Given the description of an element on the screen output the (x, y) to click on. 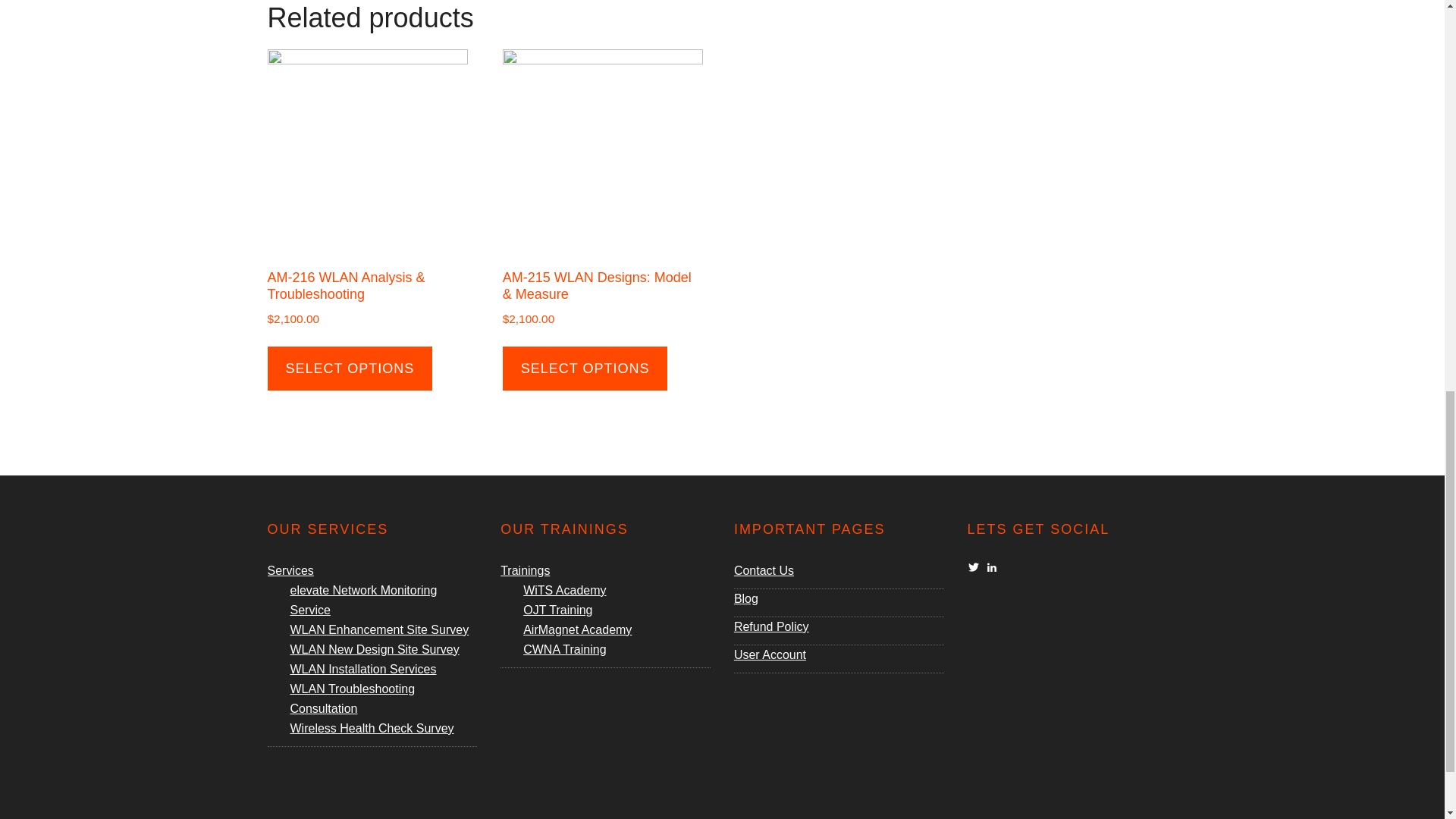
SELECT OPTIONS (349, 368)
SELECT OPTIONS (585, 368)
Services (289, 570)
elevate Network Monitoring Service (362, 599)
